Given the description of an element on the screen output the (x, y) to click on. 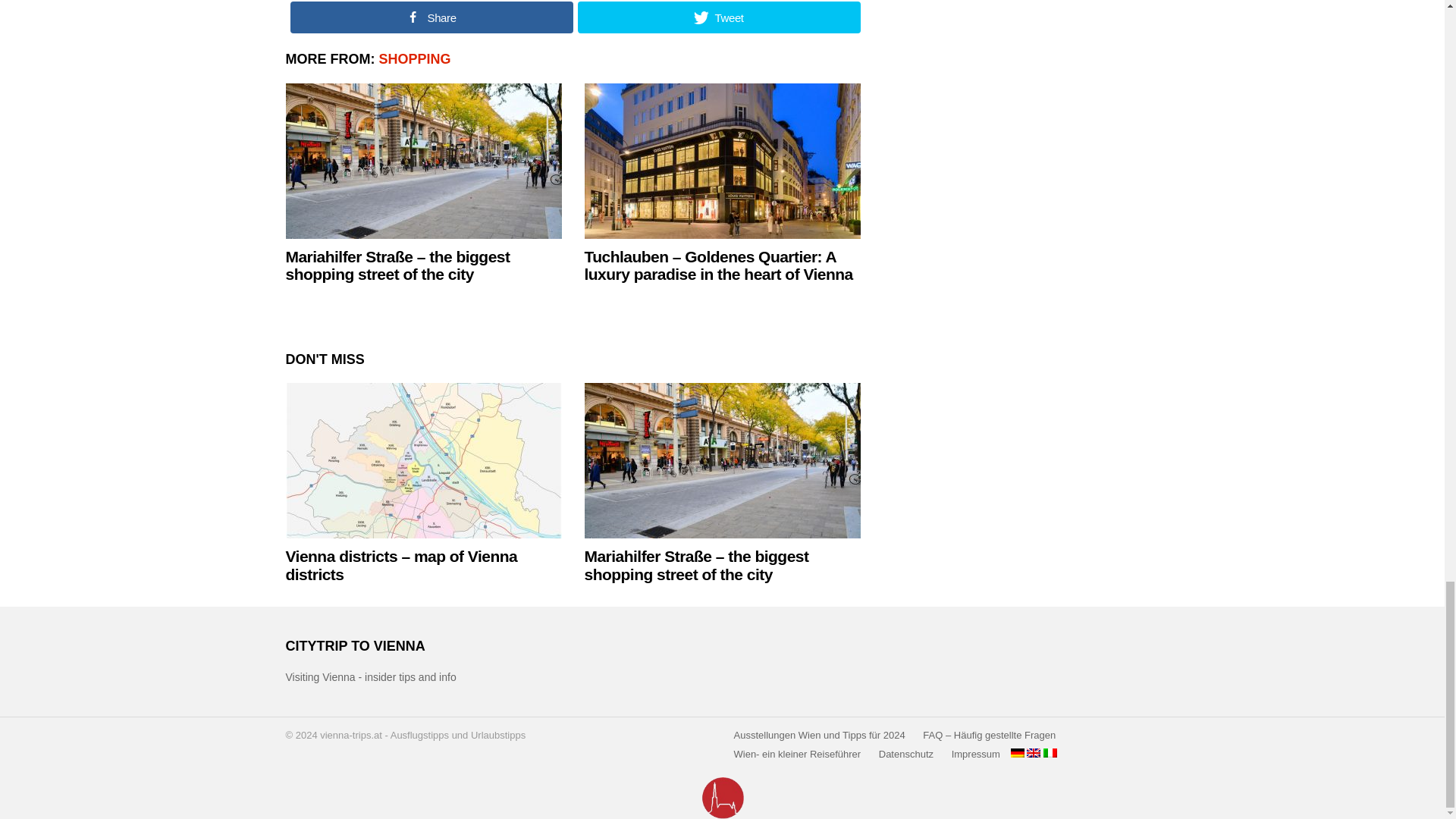
Deutsch (1017, 752)
Italiano (1050, 752)
English (1033, 752)
